Given the description of an element on the screen output the (x, y) to click on. 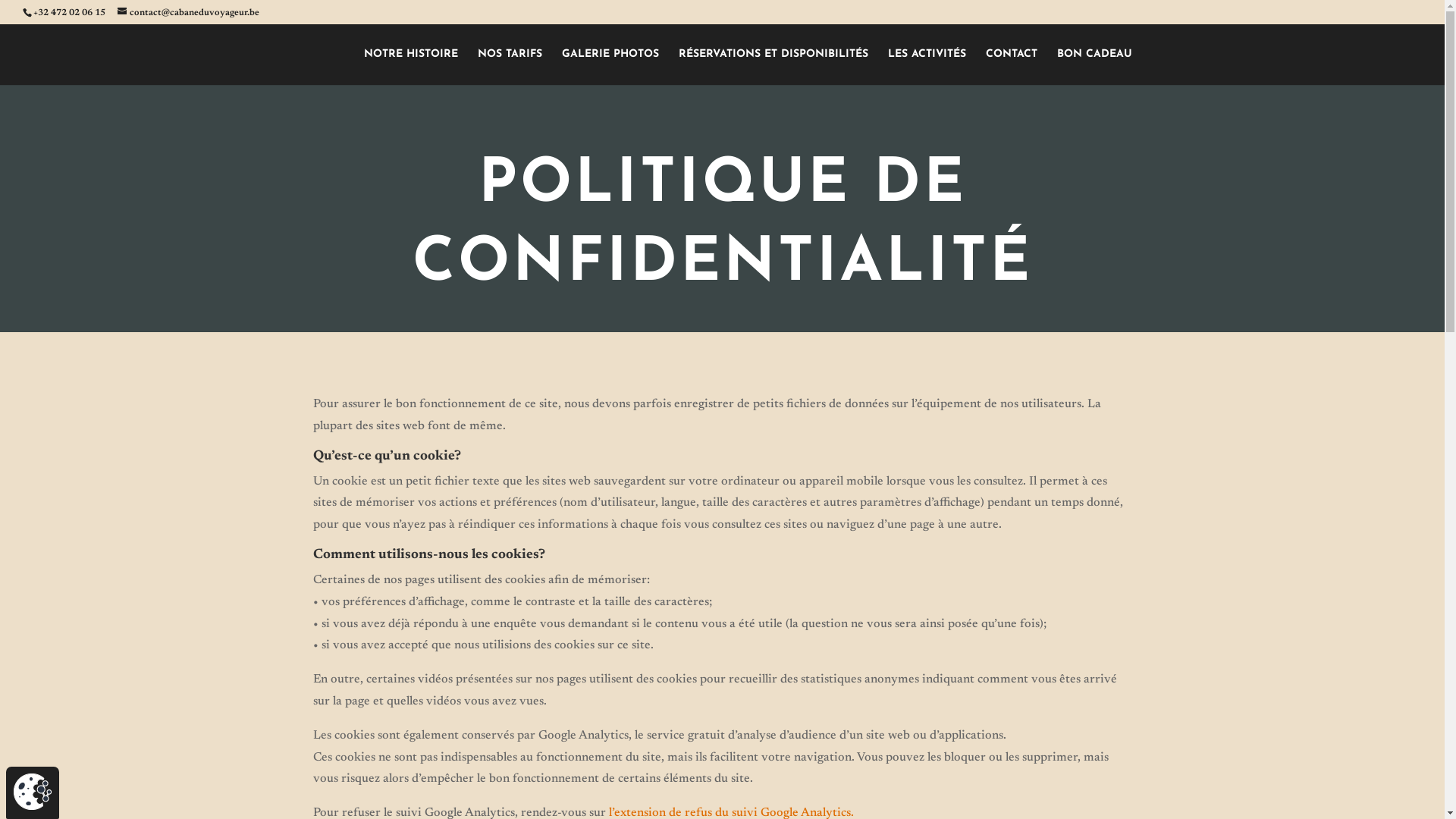
Cookies (modal window) Element type: hover (32, 791)
GALERIE PHOTOS Element type: text (609, 66)
NOS TARIFS Element type: text (509, 66)
NOTRE HISTOIRE Element type: text (411, 66)
BON CADEAU Element type: text (1094, 66)
CONTACT Element type: text (1011, 66)
contact@cabaneduvoyageur.be Element type: text (188, 12)
